Given the description of an element on the screen output the (x, y) to click on. 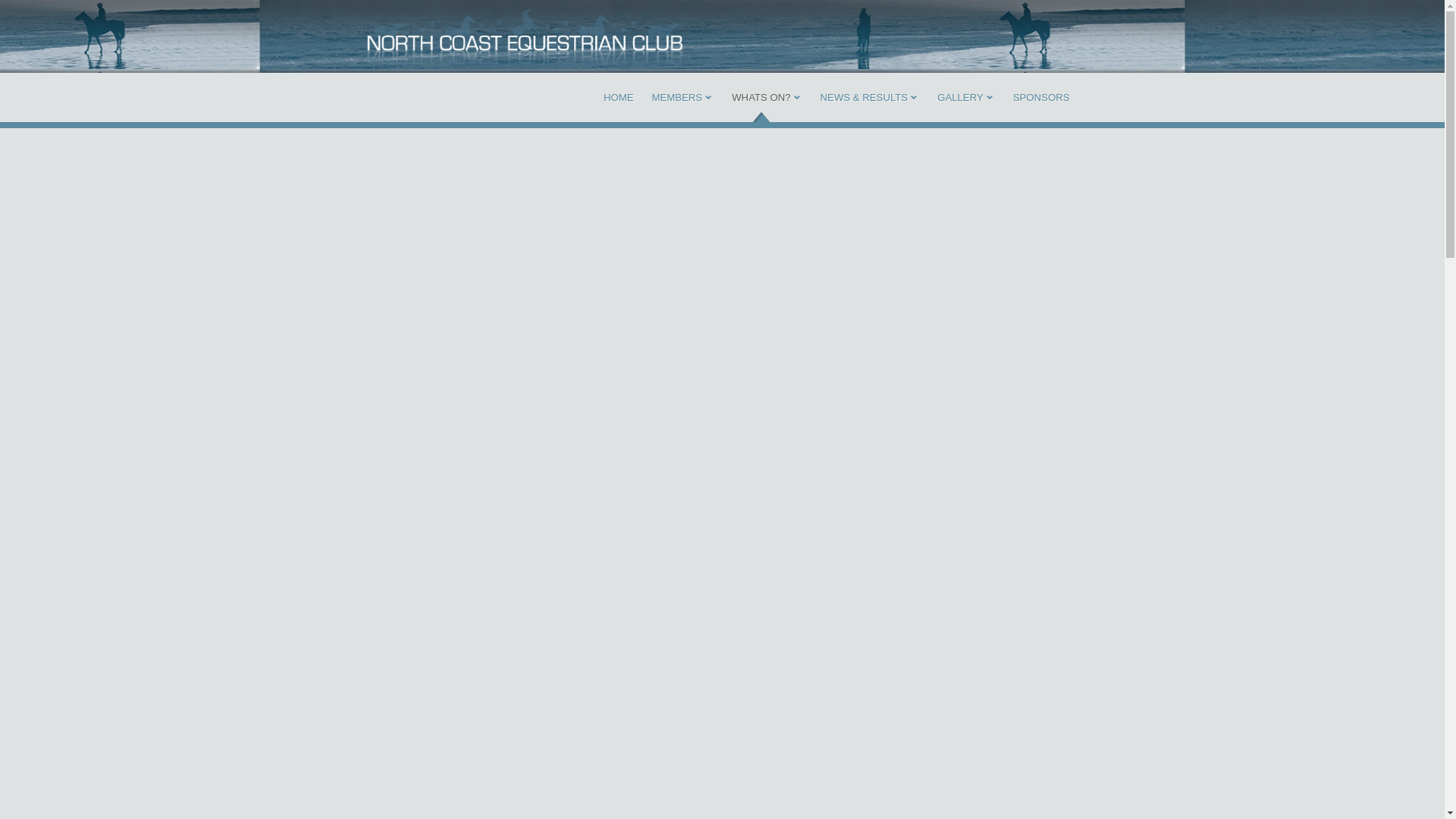
GALLERY Element type: text (960, 97)
NEWS & RESULTS Element type: text (864, 97)
MEMBERS Element type: text (676, 97)
WHATS ON? Element type: text (760, 97)
SPONSORS Element type: text (1041, 97)
HOME Element type: text (618, 97)
